Given the description of an element on the screen output the (x, y) to click on. 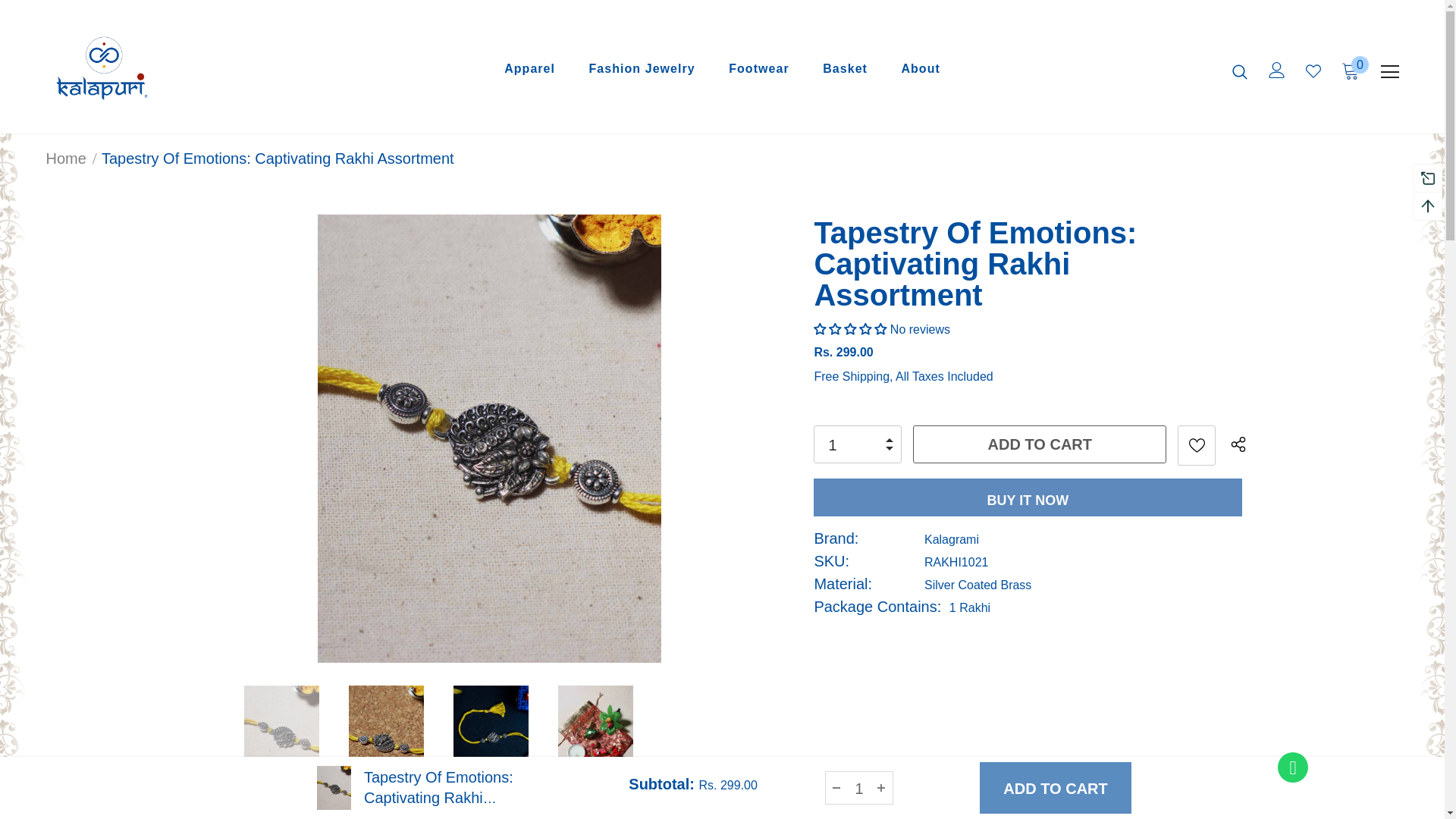
Fashion Jewelry (641, 72)
Add to cart (1039, 444)
0 (1349, 69)
Menu Mobile Icon (1389, 71)
Footwear (759, 72)
Kalagrami (951, 539)
Kalagrami (951, 539)
Cart Icon (1349, 69)
My Wish Lists (1313, 70)
BUY IT NOW (1027, 497)
Home (65, 158)
Logo (134, 70)
Add to cart (1039, 444)
1 (853, 443)
Search Icon (1239, 70)
